Given the description of an element on the screen output the (x, y) to click on. 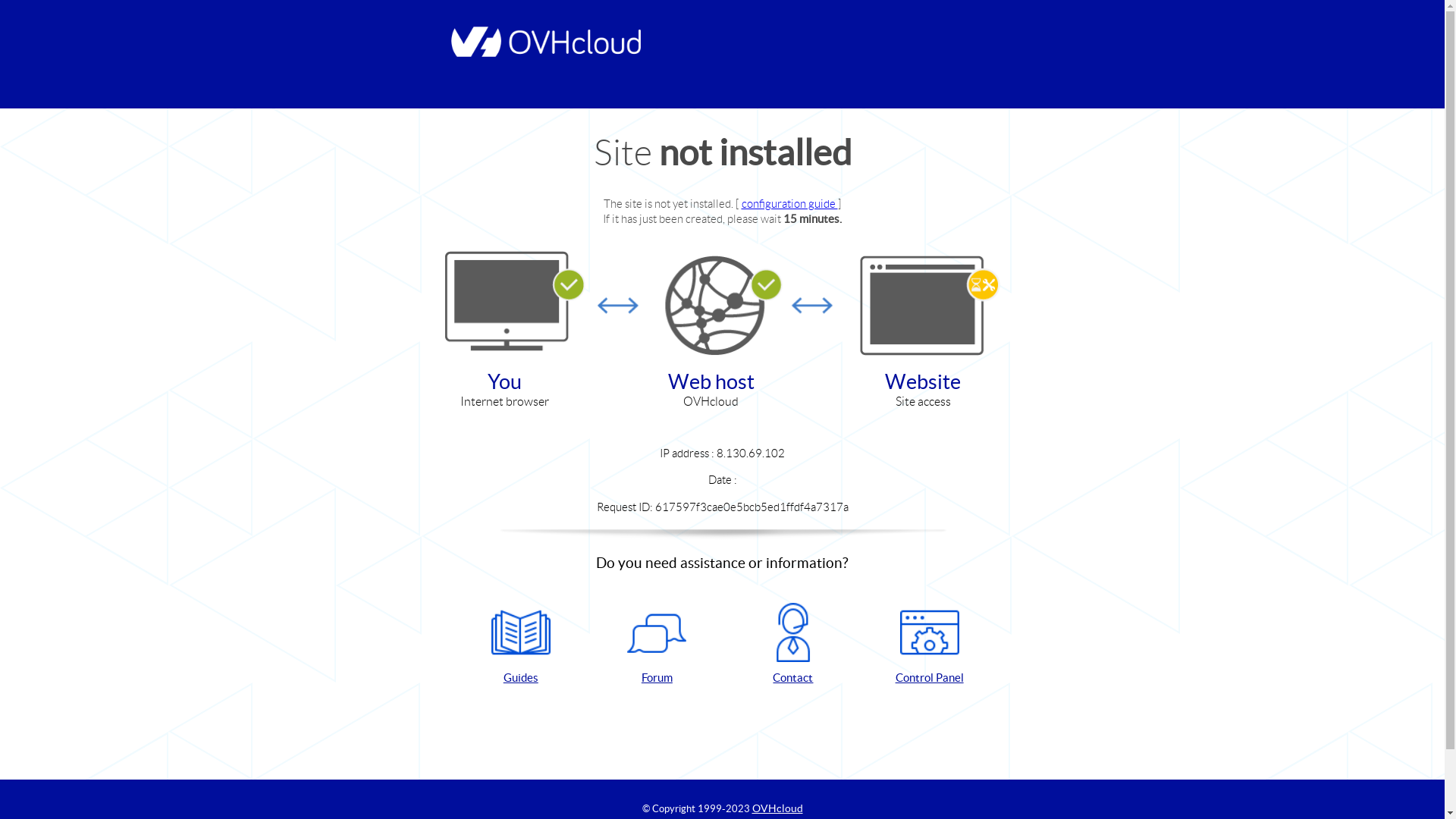
Control Panel Element type: text (929, 644)
configuration guide Element type: text (789, 203)
Forum Element type: text (656, 644)
Guides Element type: text (520, 644)
Contact Element type: text (792, 644)
OVHcloud Element type: text (777, 808)
